Given the description of an element on the screen output the (x, y) to click on. 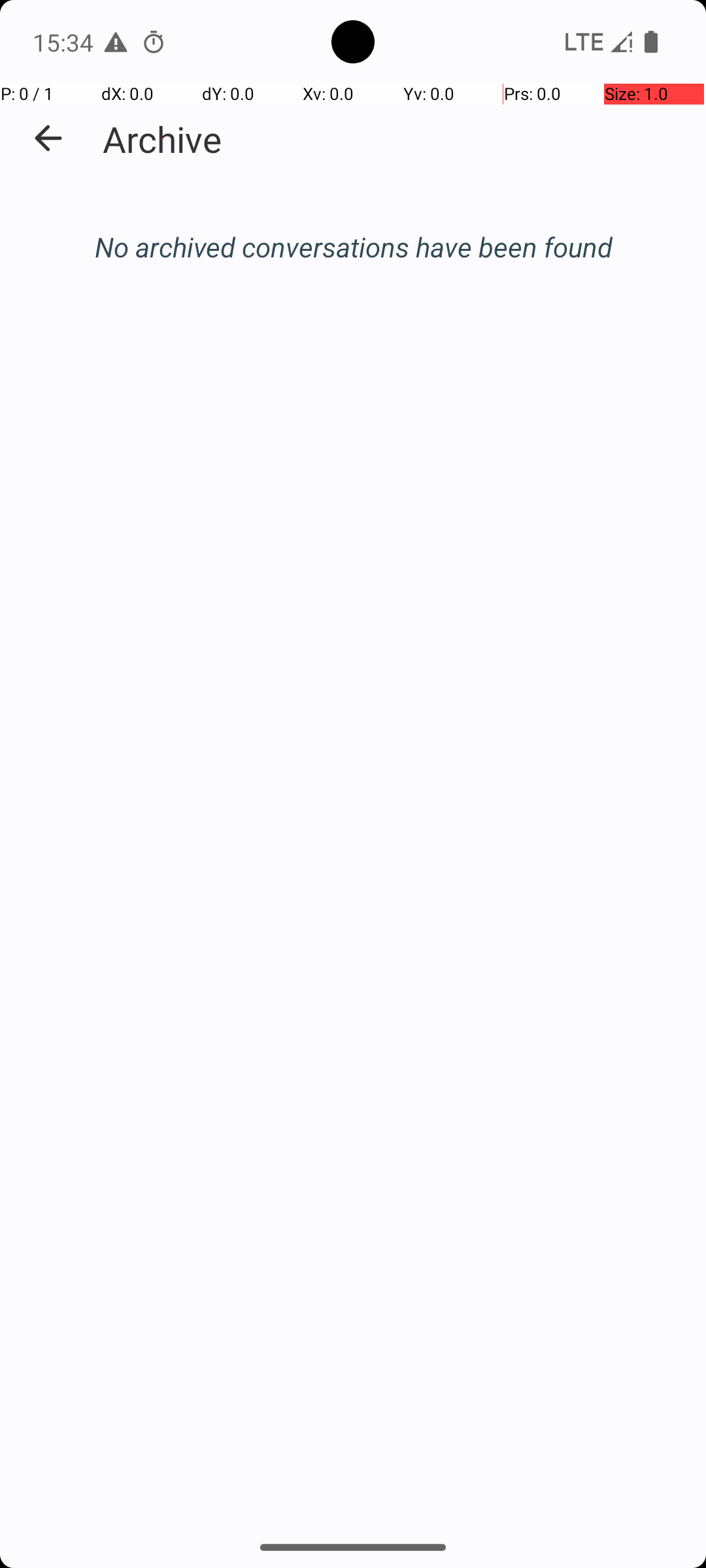
Archive Element type: android.widget.TextView (162, 138)
No archived conversations have been found Element type: android.widget.TextView (353, 246)
